Given the description of an element on the screen output the (x, y) to click on. 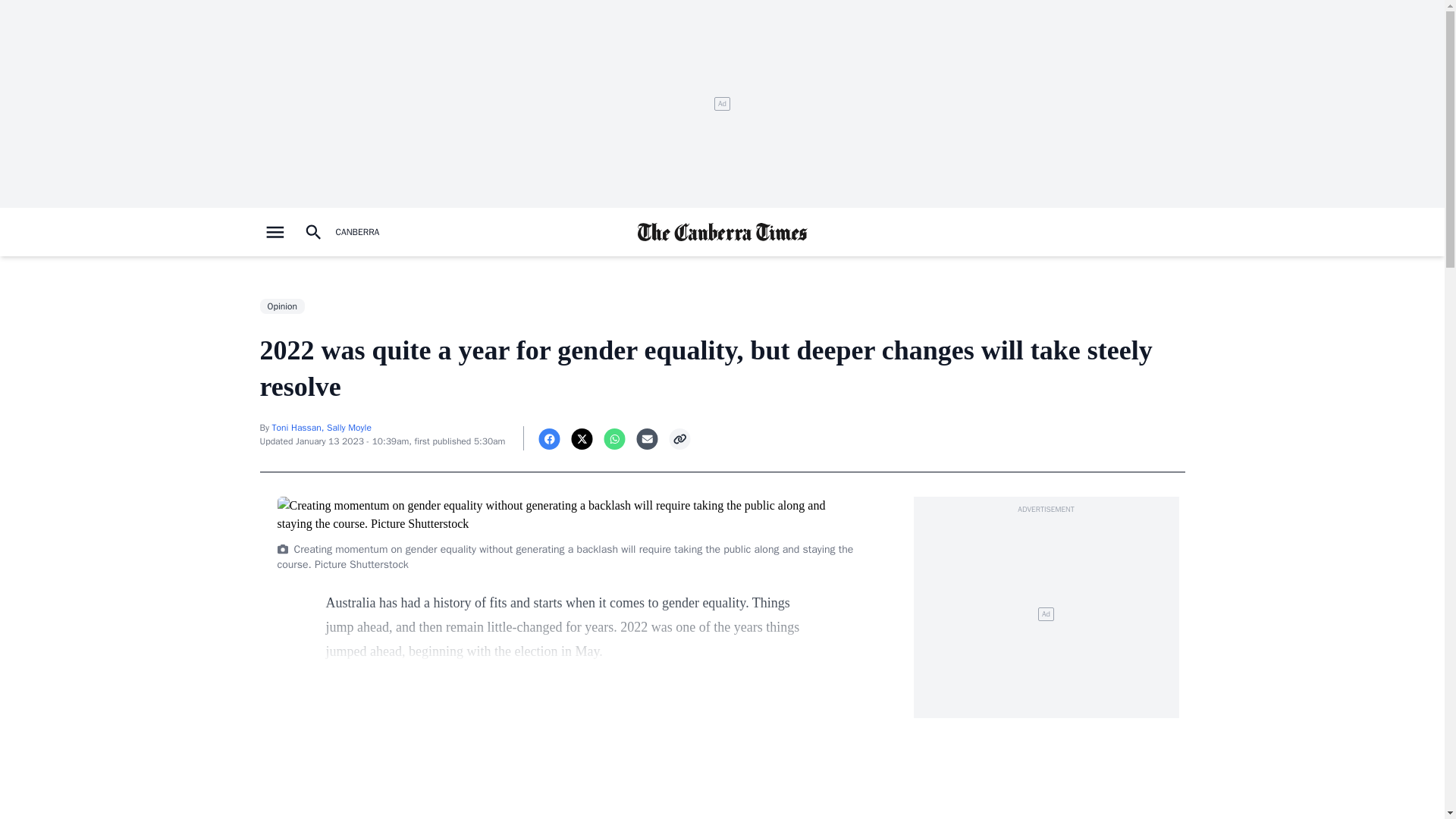
CANBERRA (357, 232)
